Given the description of an element on the screen output the (x, y) to click on. 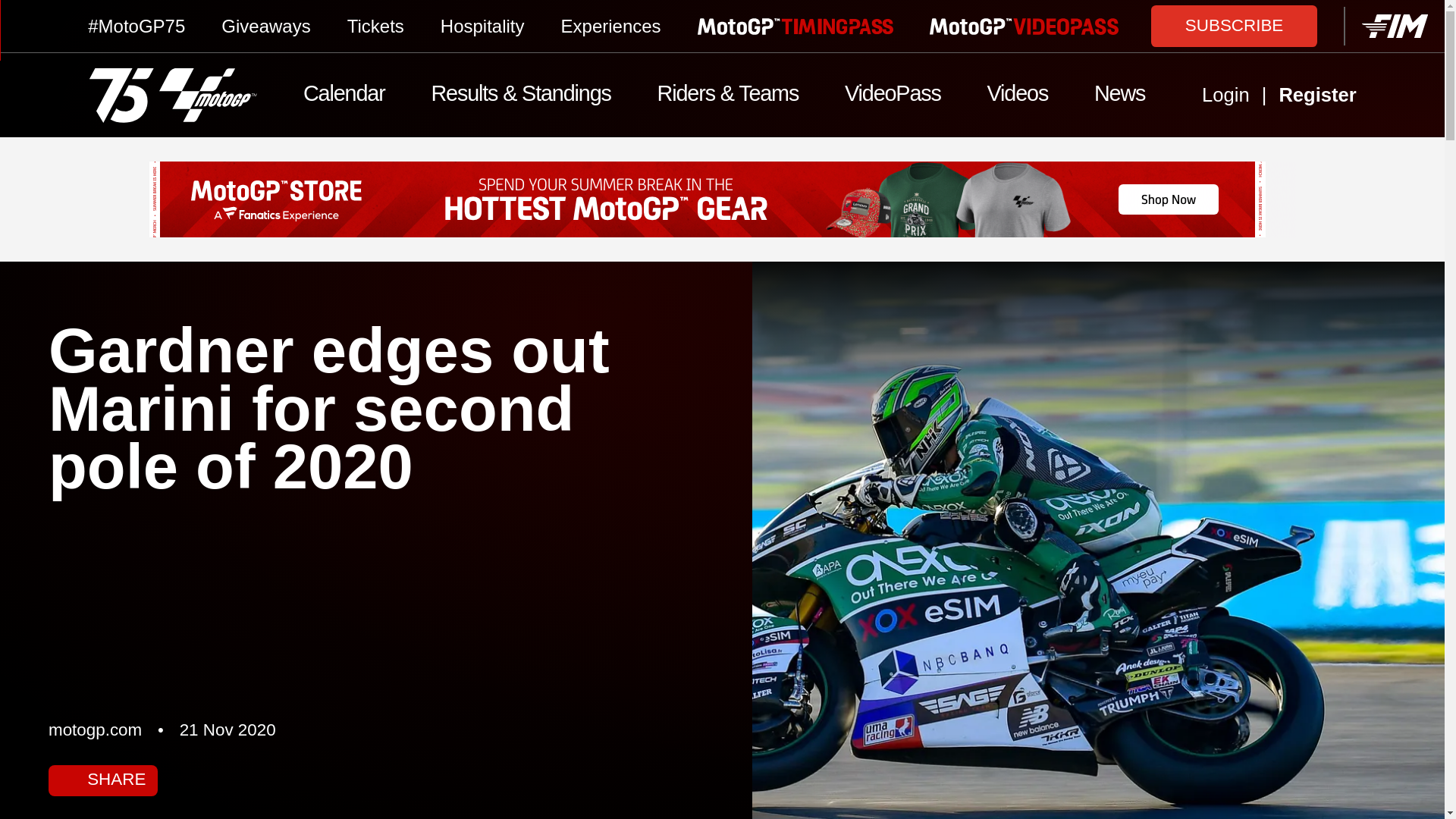
Videos (1016, 94)
News (1119, 94)
3rd party ad content (721, 199)
Experiences (610, 26)
VideoPass (893, 94)
Hospitality (482, 26)
SUBSCRIBE (1234, 24)
Tickets (375, 26)
Login (1225, 95)
Giveaways (265, 26)
Calendar (343, 94)
Register (1342, 95)
